Given the description of an element on the screen output the (x, y) to click on. 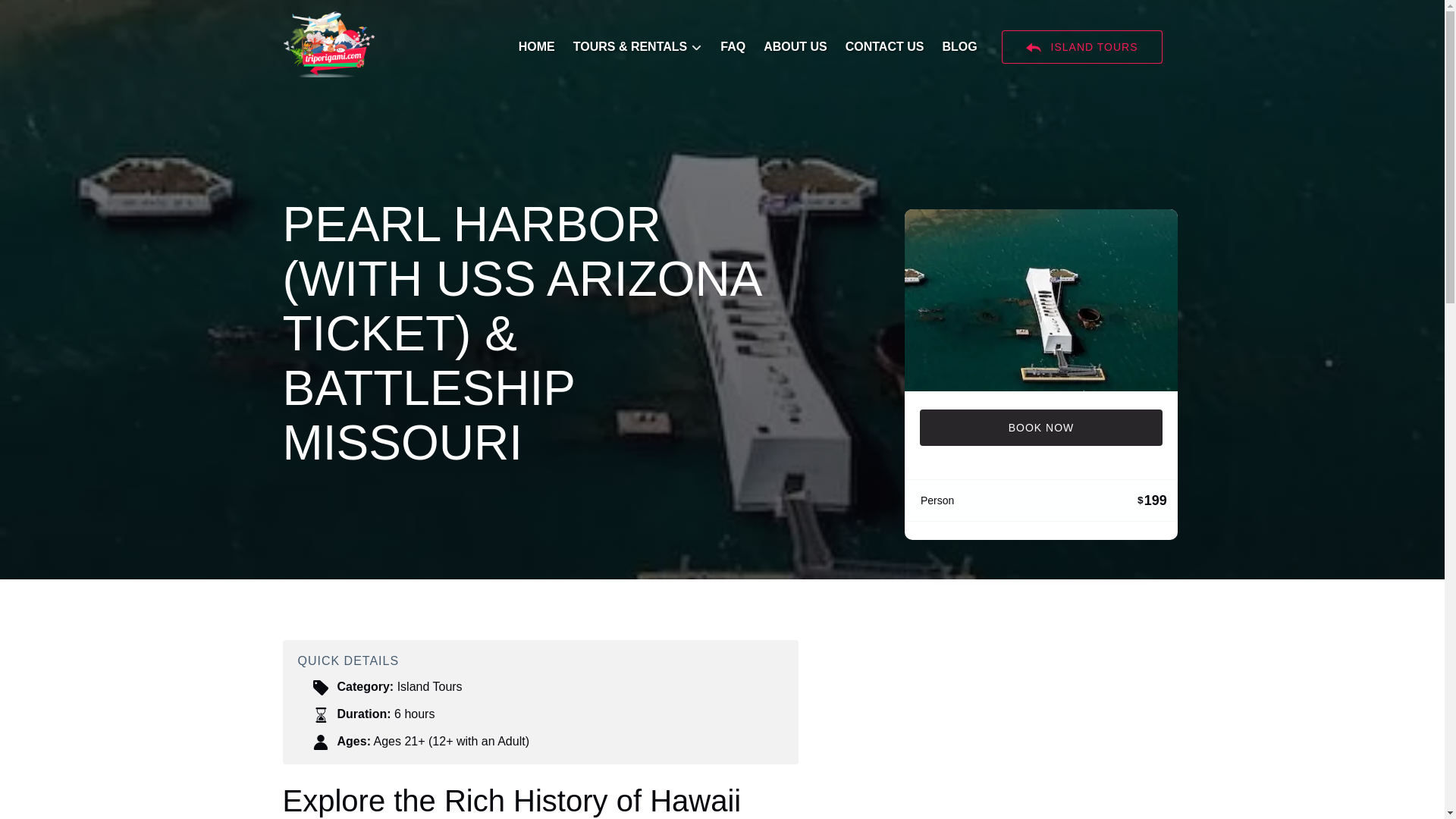
BLOG (959, 46)
User (320, 742)
BACK ARROW (1033, 47)
Skip to footer (42, 16)
CONTACT US (884, 46)
BOOK NOW (1039, 427)
HOME (536, 46)
Skip to primary navigation (77, 16)
ABOUT US (794, 46)
BACK ARROW ISLAND TOURS (1081, 46)
FAQ (732, 46)
Tag (320, 687)
Skip to content (47, 16)
Hour Glass (320, 714)
